Given the description of an element on the screen output the (x, y) to click on. 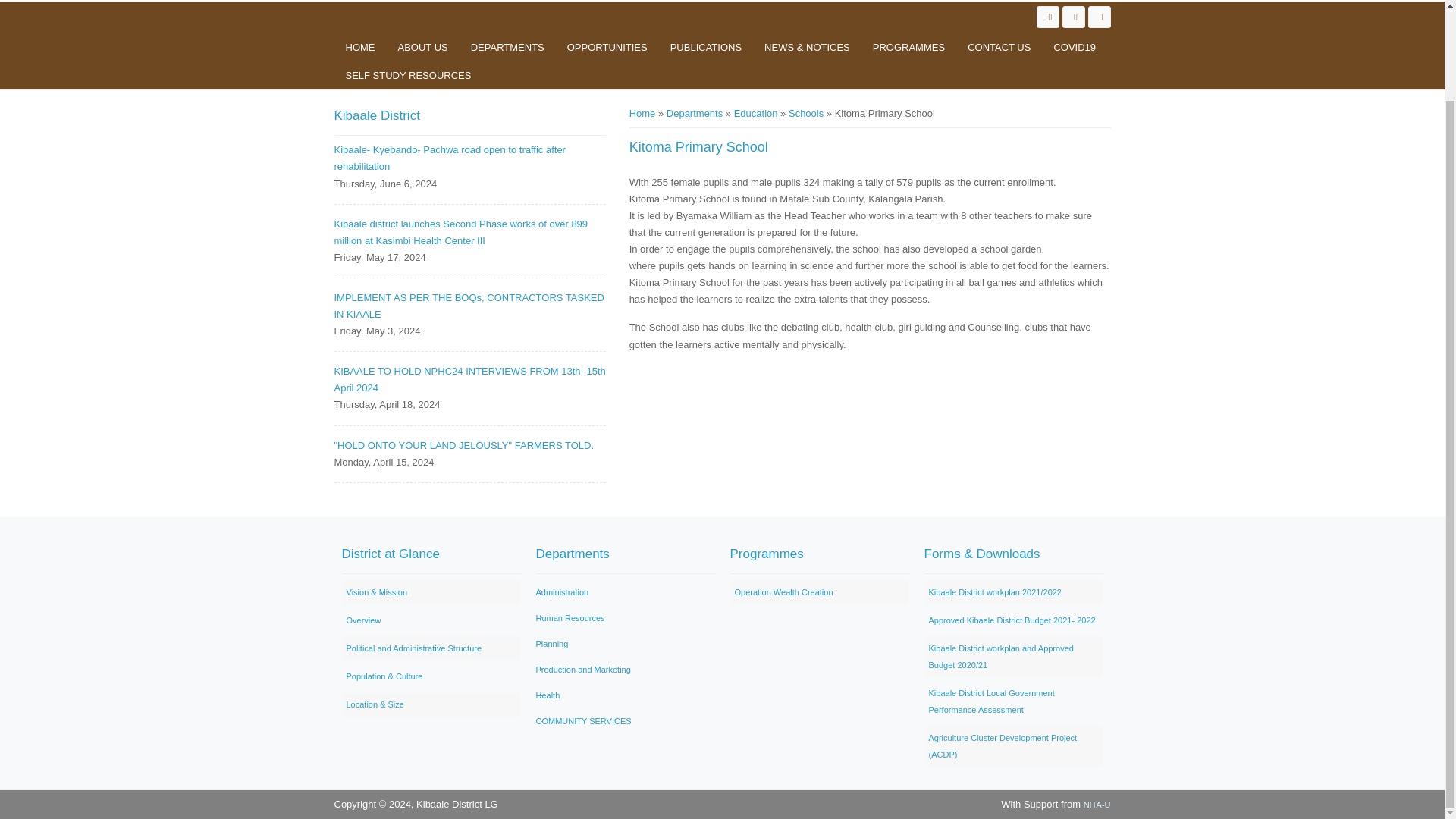
Serving the Nation (806, 112)
HOME (359, 47)
DEPARTMENTS (508, 47)
ABOUT US (423, 47)
